Given the description of an element on the screen output the (x, y) to click on. 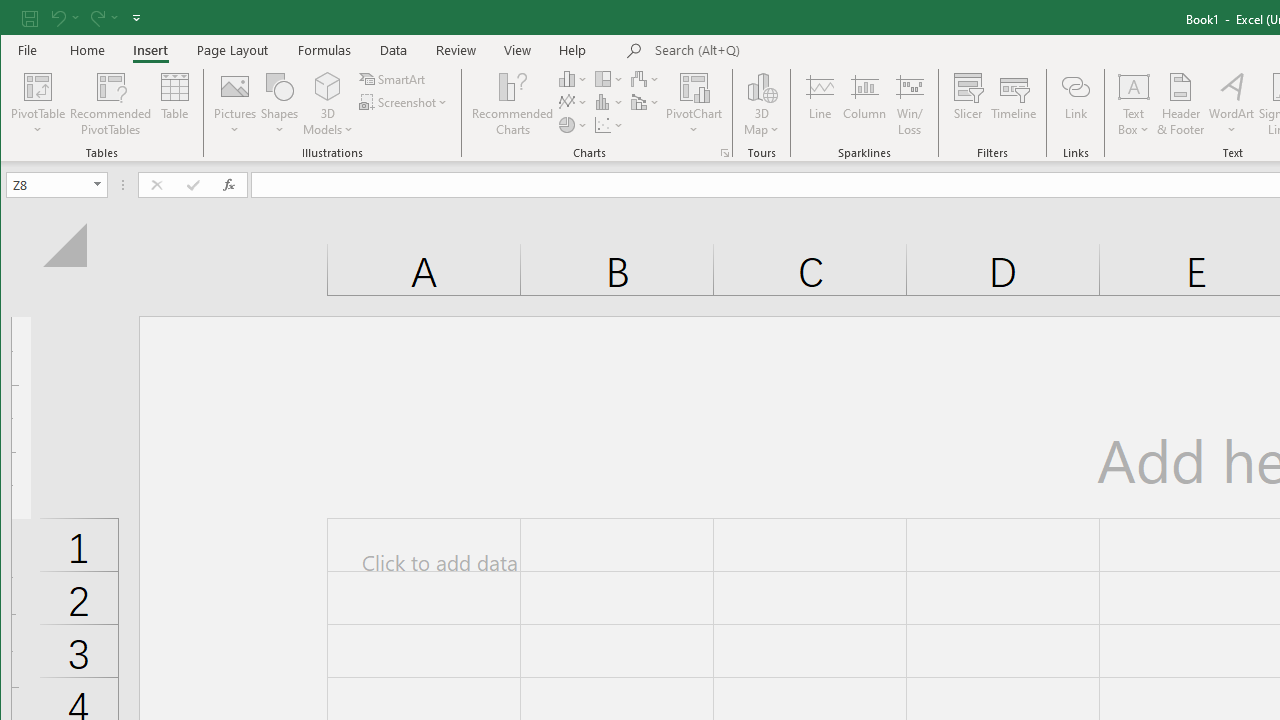
Insert Combo Chart (646, 101)
Insert Pie or Doughnut Chart (573, 124)
Table (174, 104)
Insert Scatter (X, Y) or Bubble Chart (609, 124)
Header & Footer... (1180, 104)
Insert Statistic Chart (609, 101)
3D Models (327, 86)
Insert Hierarchy Chart (609, 78)
Column (864, 104)
